Given the description of an element on the screen output the (x, y) to click on. 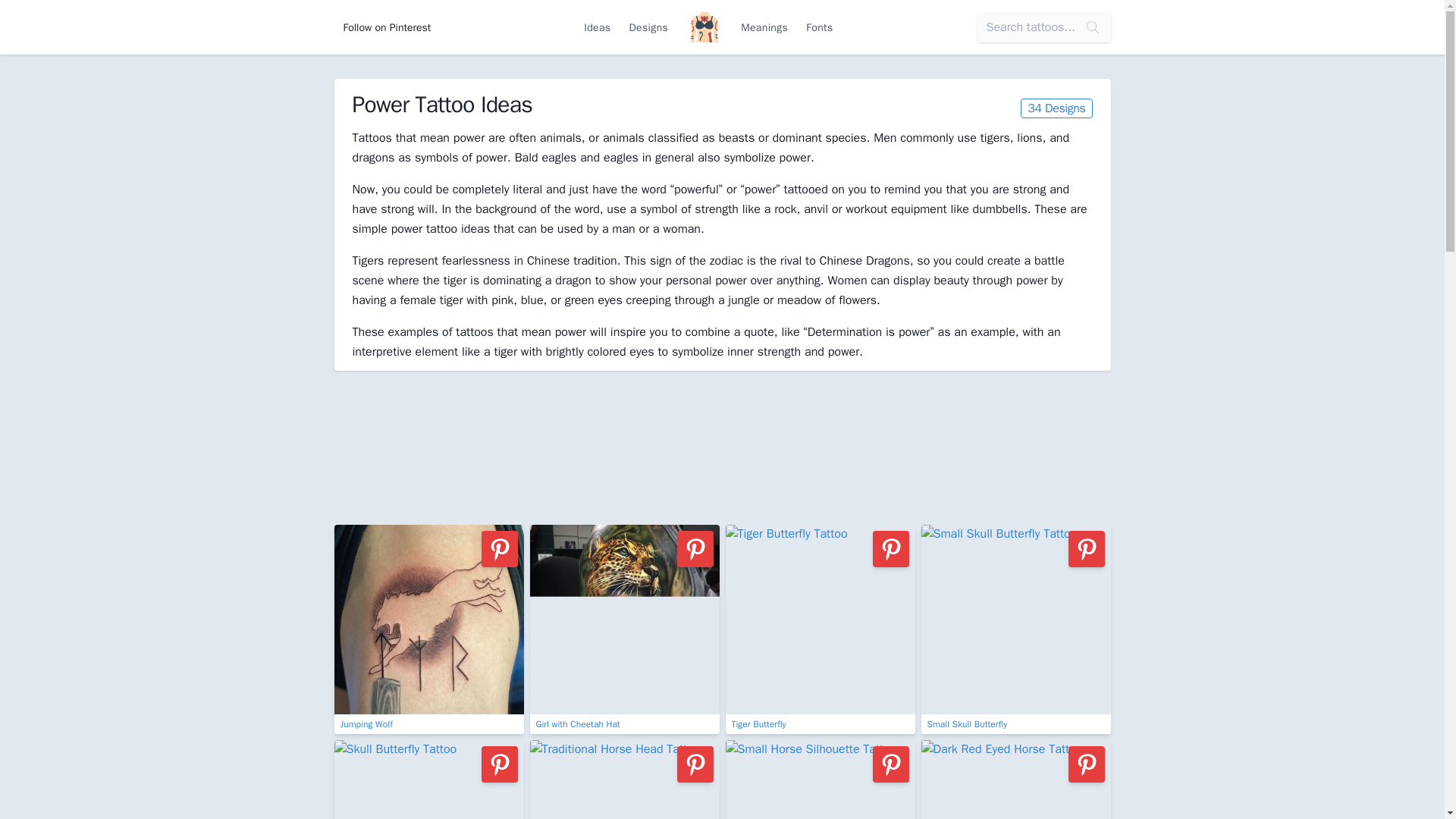
Fonts (818, 27)
Designs (648, 27)
Jumping Wolf (427, 628)
Traditional Horse Head (624, 779)
Tiger Butterfly (819, 628)
Small Skull Butterfly (1014, 628)
Ideas (597, 27)
Small Horse Silhouette (819, 779)
Girl with Cheetah Hat (624, 628)
Meanings (764, 27)
